Given the description of an element on the screen output the (x, y) to click on. 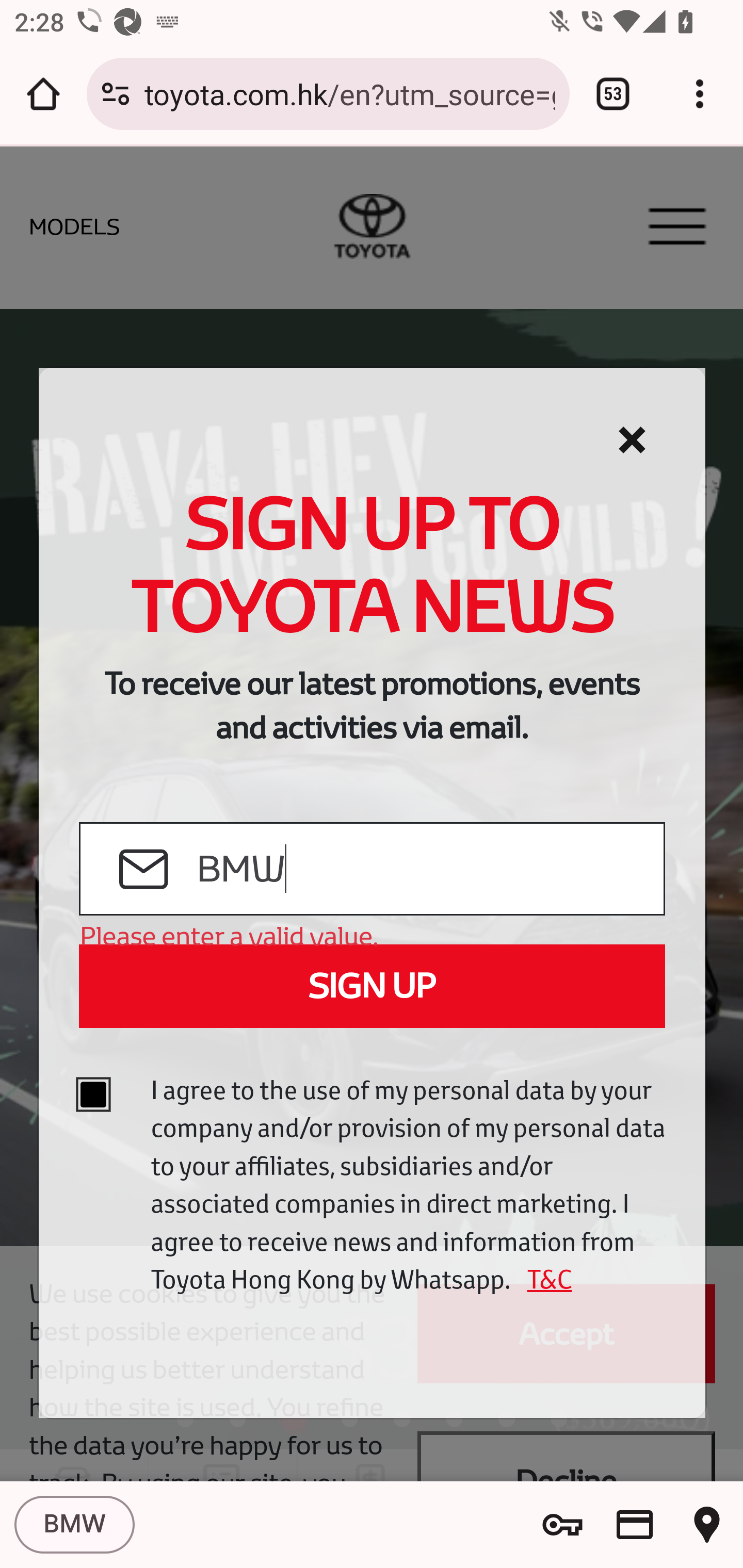
Open the home page (43, 93)
Connection is secure (115, 93)
Switch or close tabs (612, 93)
Customize and control Google Chrome (699, 93)
Cerrar (631, 440)
BMW (429, 869)
SIGN UP (371, 985)
T&C (543, 1279)
BMW (74, 1524)
Show saved passwords and password options (562, 1524)
Show saved payment methods (634, 1524)
Show saved addresses (706, 1524)
